Given the description of an element on the screen output the (x, y) to click on. 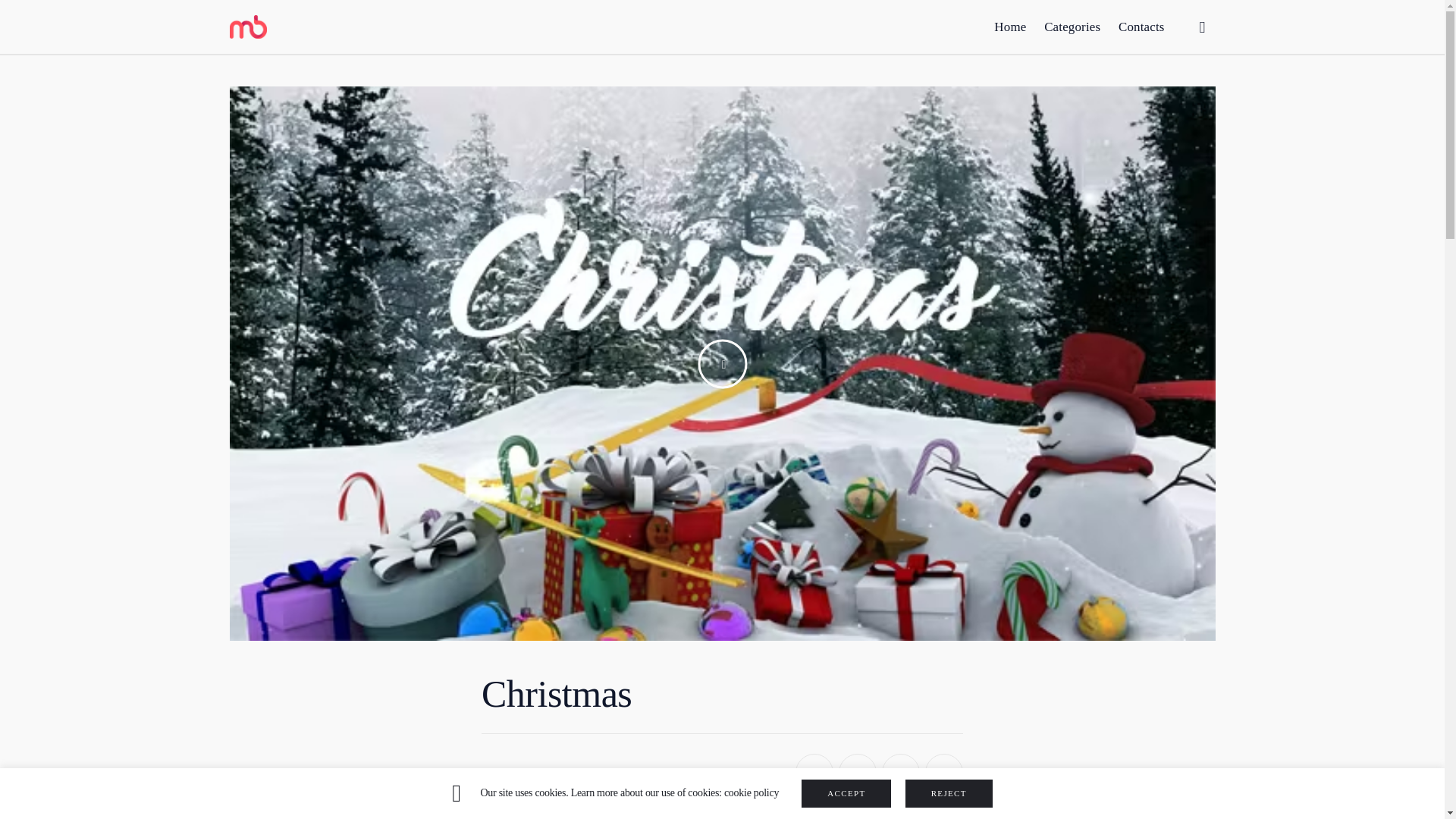
Home (1010, 18)
Contacts (1141, 26)
Categories (1072, 22)
Copy URL to clipboard (943, 772)
